Given the description of an element on the screen output the (x, y) to click on. 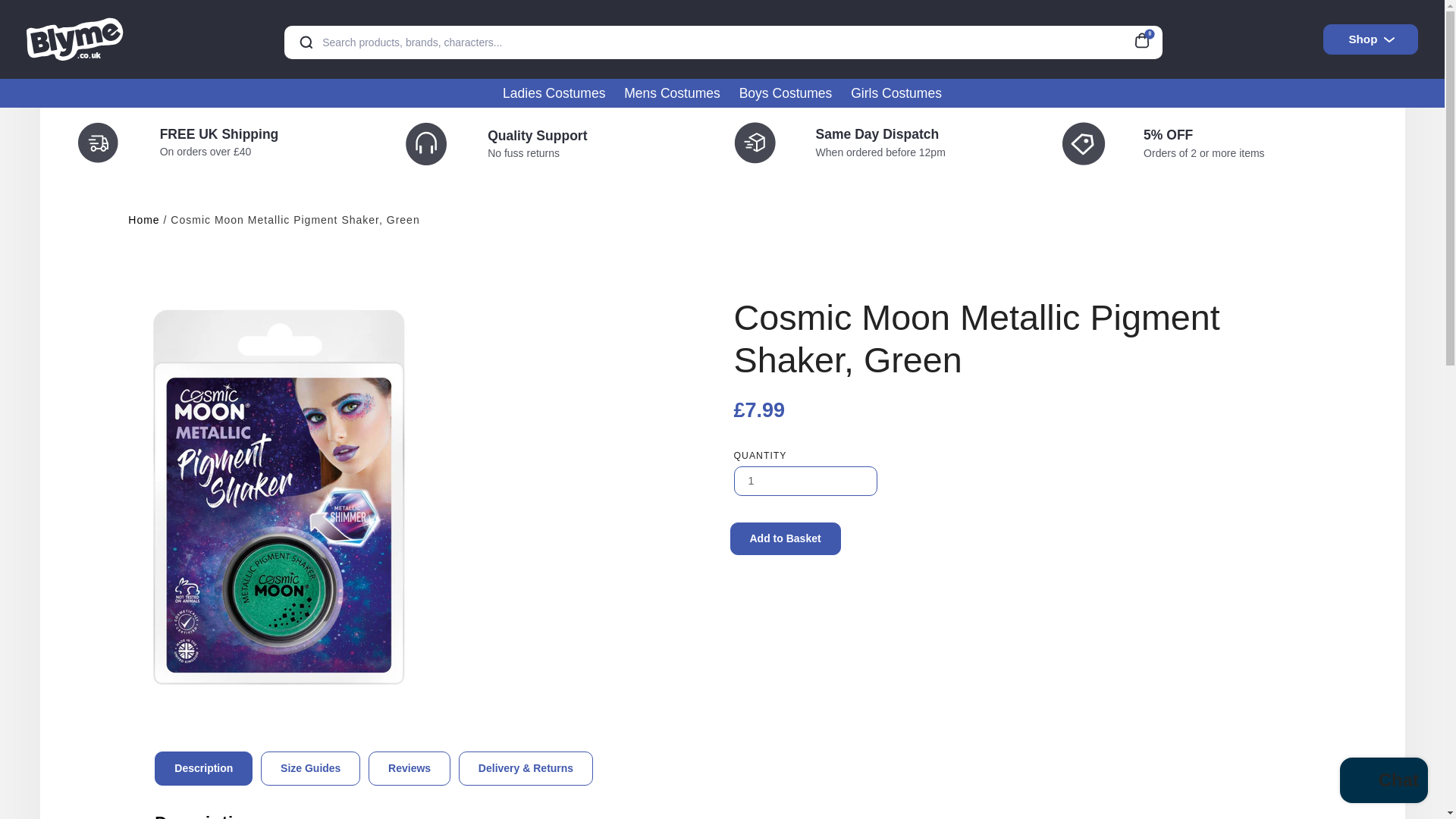
View your Basket (1147, 38)
1 (805, 481)
0 (1147, 38)
0 (1147, 38)
Home (143, 220)
